Given the description of an element on the screen output the (x, y) to click on. 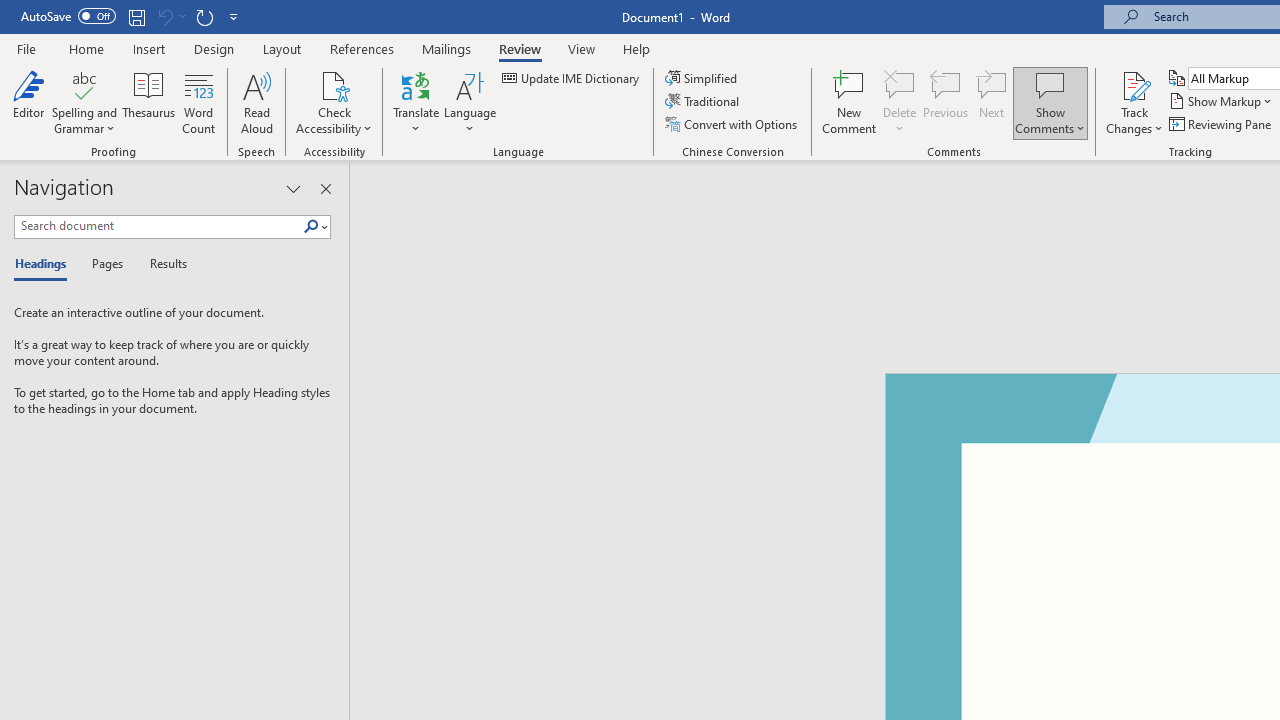
Thesaurus... (148, 102)
Delete (900, 84)
Traditional (703, 101)
Can't Undo (164, 15)
Show Comments (1050, 84)
Show Comments (1050, 102)
Word Count (198, 102)
New Comment (849, 102)
